Given the description of an element on the screen output the (x, y) to click on. 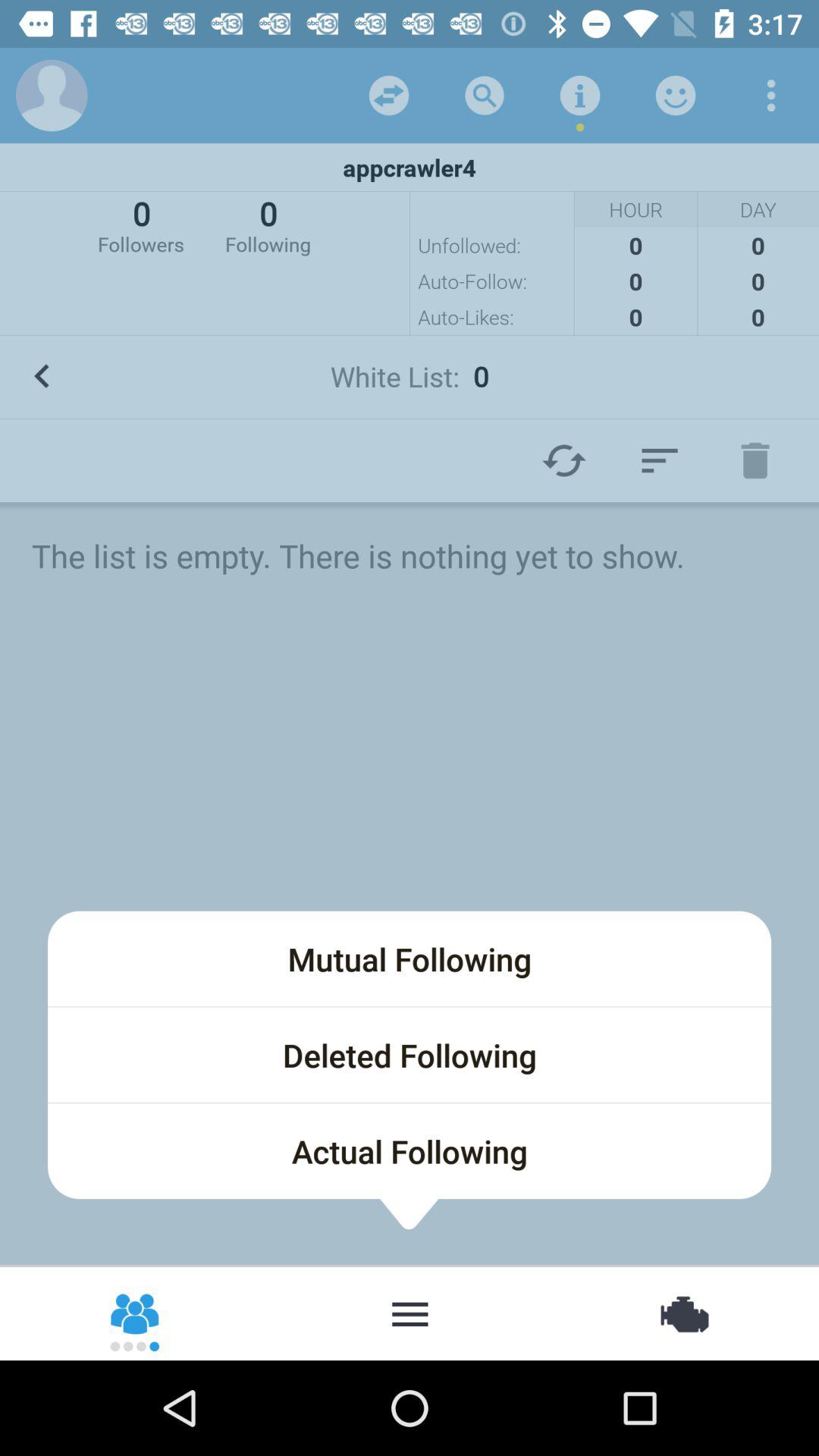
appearence (659, 460)
